Given the description of an element on the screen output the (x, y) to click on. 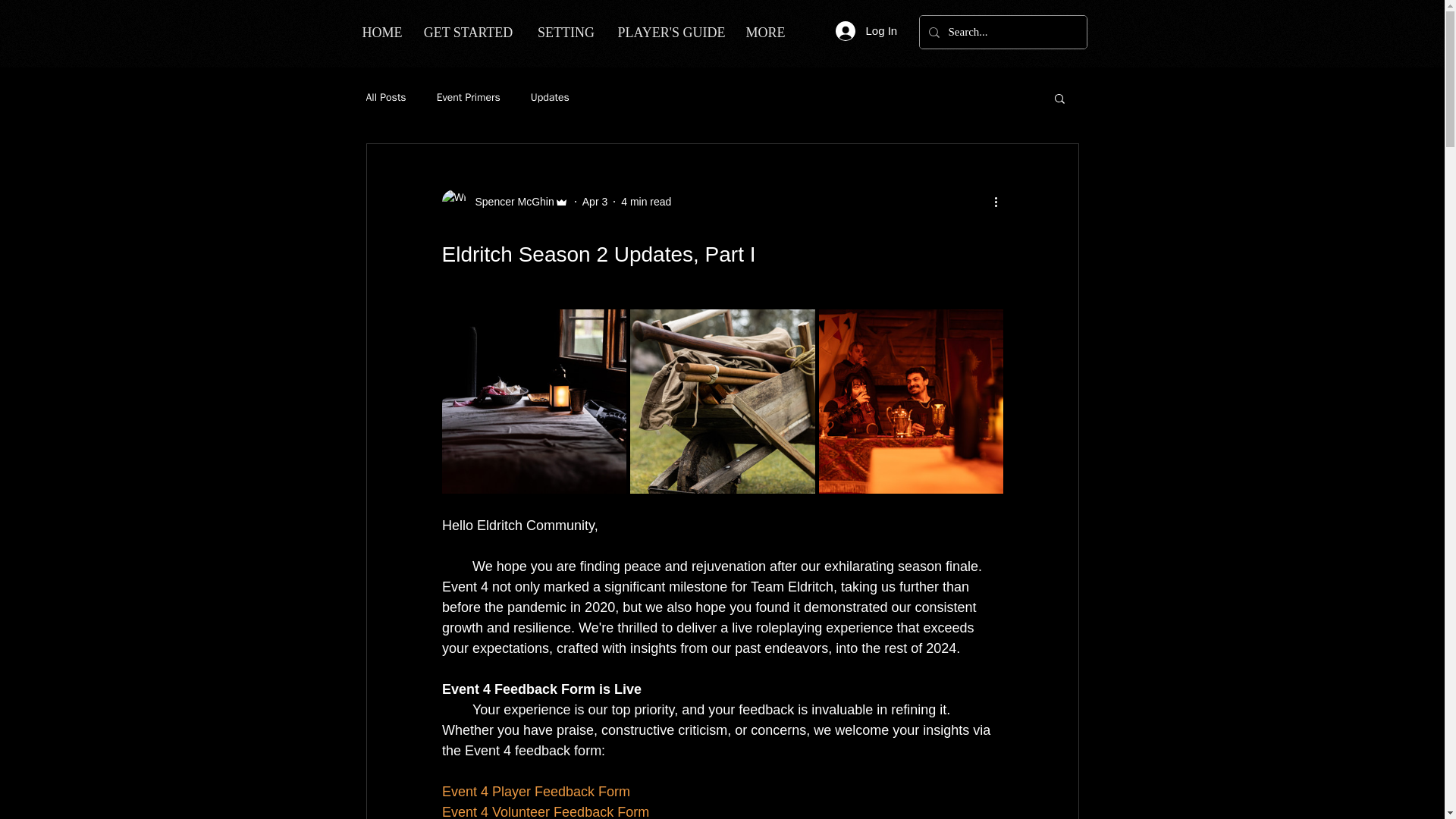
HOME (380, 33)
Spencer McGhin (509, 201)
Apr 3 (594, 201)
4 min read (646, 201)
PLAYER'S GUIDE (671, 33)
Spencer McGhin (504, 201)
Log In (864, 30)
All Posts (385, 97)
Event 4 Player Feedback Form (534, 791)
Updates (550, 97)
